Given the description of an element on the screen output the (x, y) to click on. 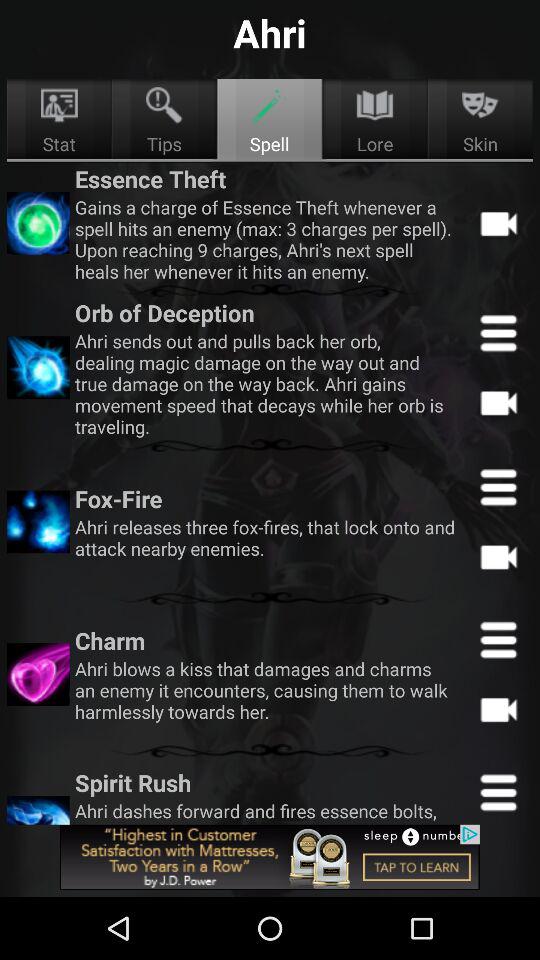
customize (498, 790)
